Given the description of an element on the screen output the (x, y) to click on. 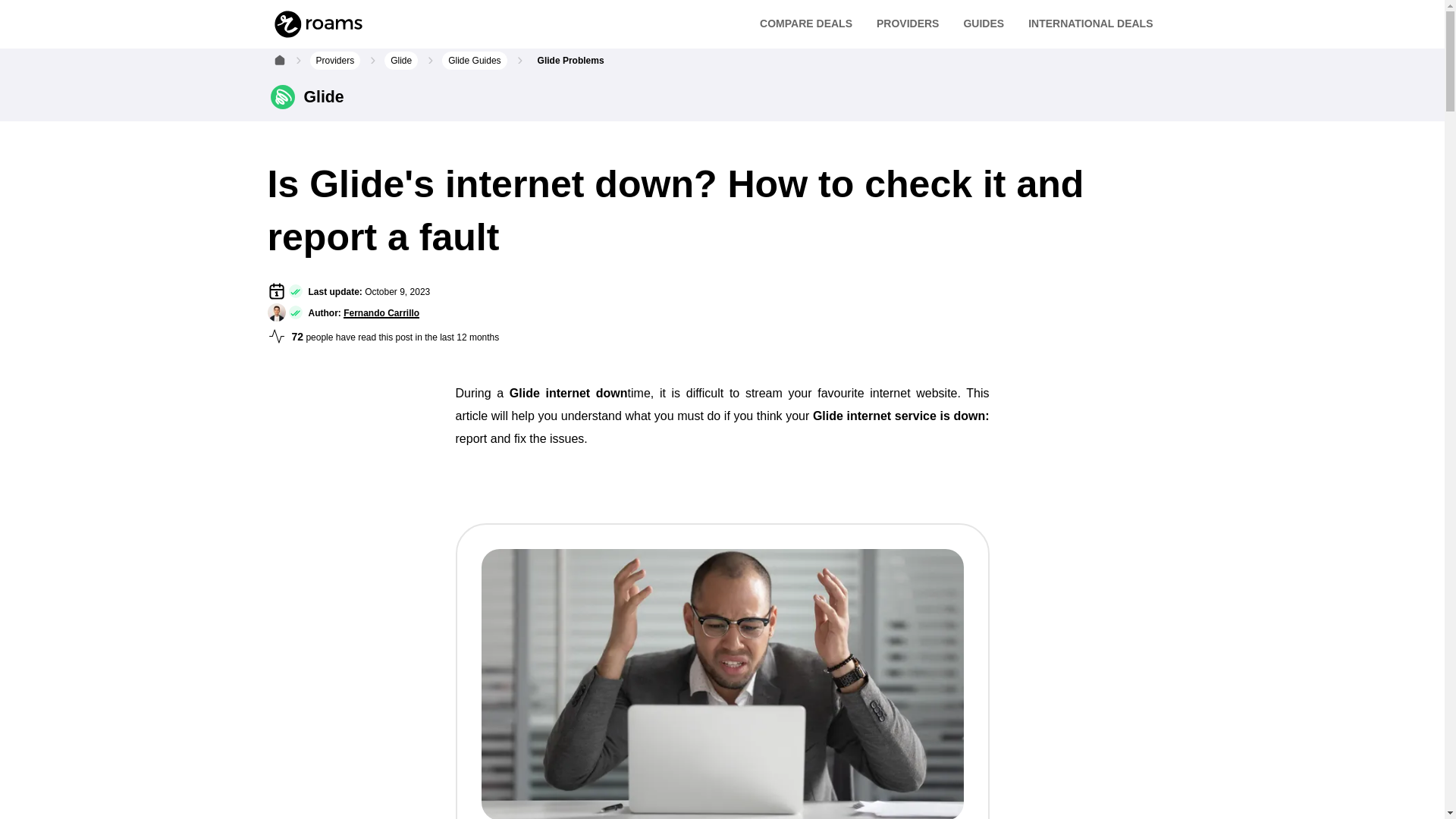
Icono de Glide (281, 96)
Fernando Carrillo (275, 312)
logo Roams (275, 290)
Is Glide's internet down? How to check it and report a fault (721, 683)
